Given the description of an element on the screen output the (x, y) to click on. 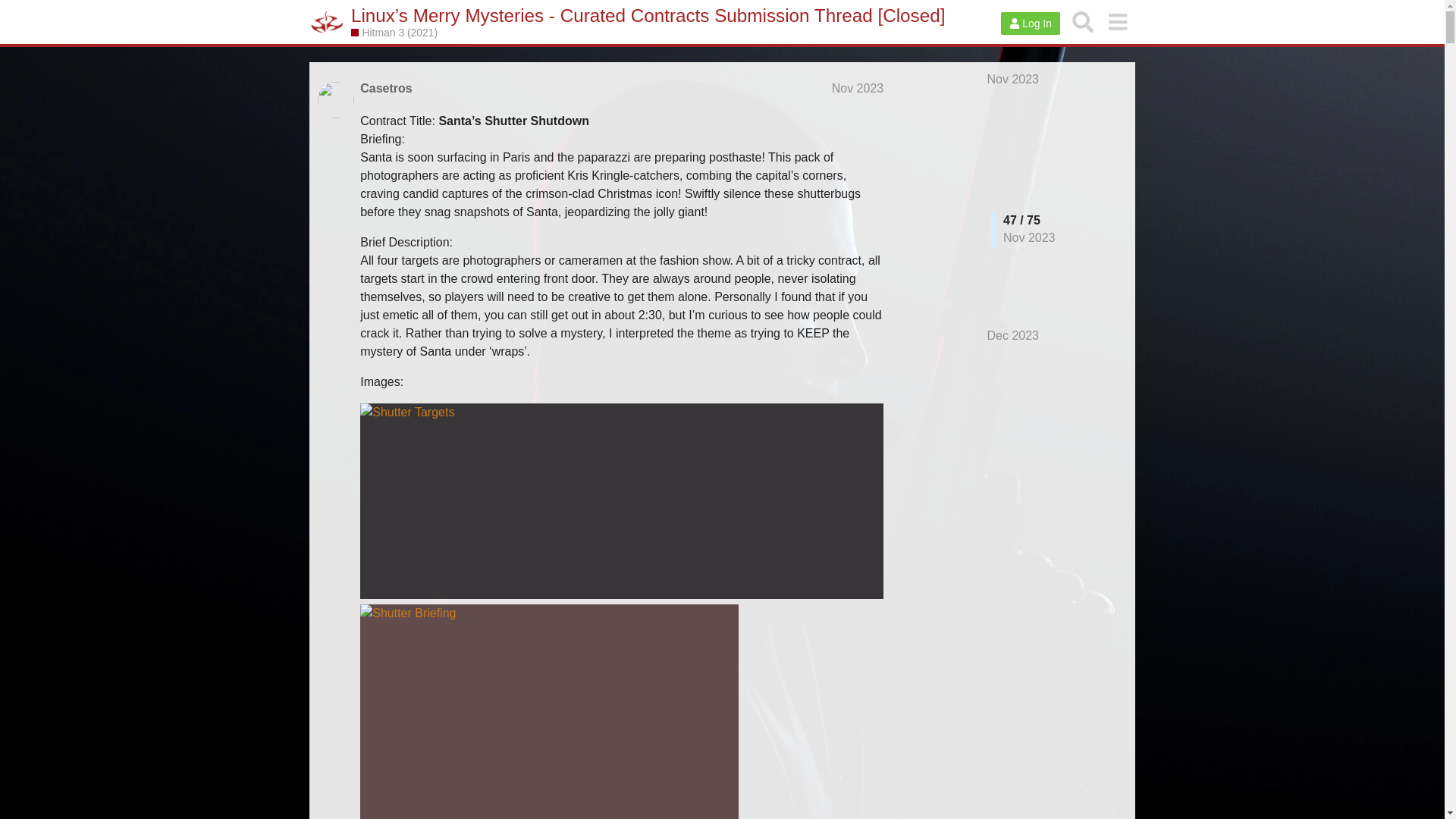
Nov 2023 (857, 88)
Nov 2023 (1013, 78)
Post date (857, 88)
Jump to the last post (1013, 335)
Search (1082, 21)
menu (1117, 21)
Jump to the first post (1013, 78)
Casetros (385, 88)
Shutter Briefing (548, 711)
Dec 2023 (1013, 335)
Shutter Targets (621, 500)
Log In (1030, 23)
